Given the description of an element on the screen output the (x, y) to click on. 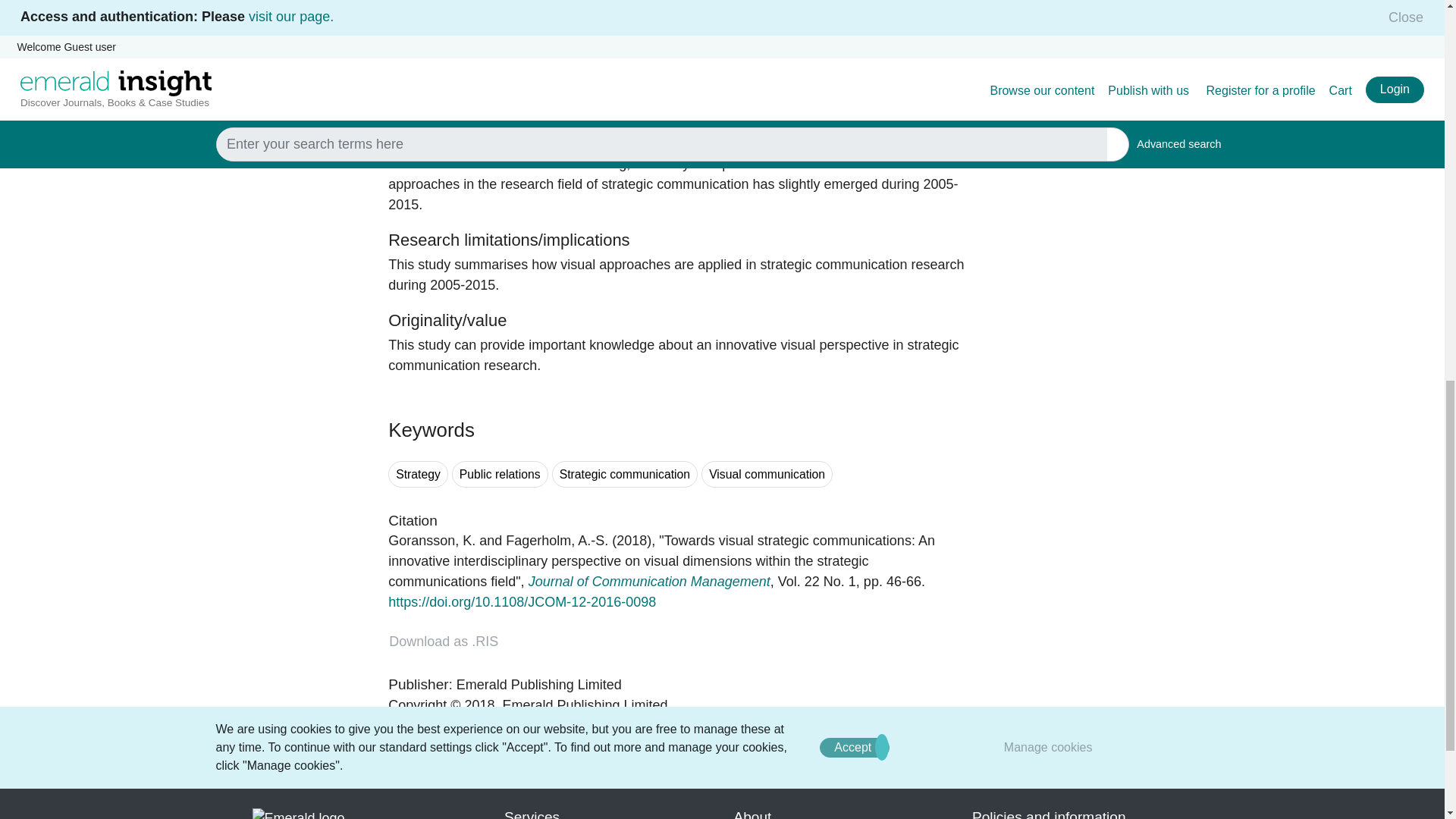
Search for keyword Visual communication (766, 474)
Search for keyword Public relations (499, 474)
Search for keyword Strategy (418, 474)
Anna-Sara Fagerholm (556, 540)
Search for keyword Strategic communication (624, 474)
Karina Goransson (432, 540)
